Given the description of an element on the screen output the (x, y) to click on. 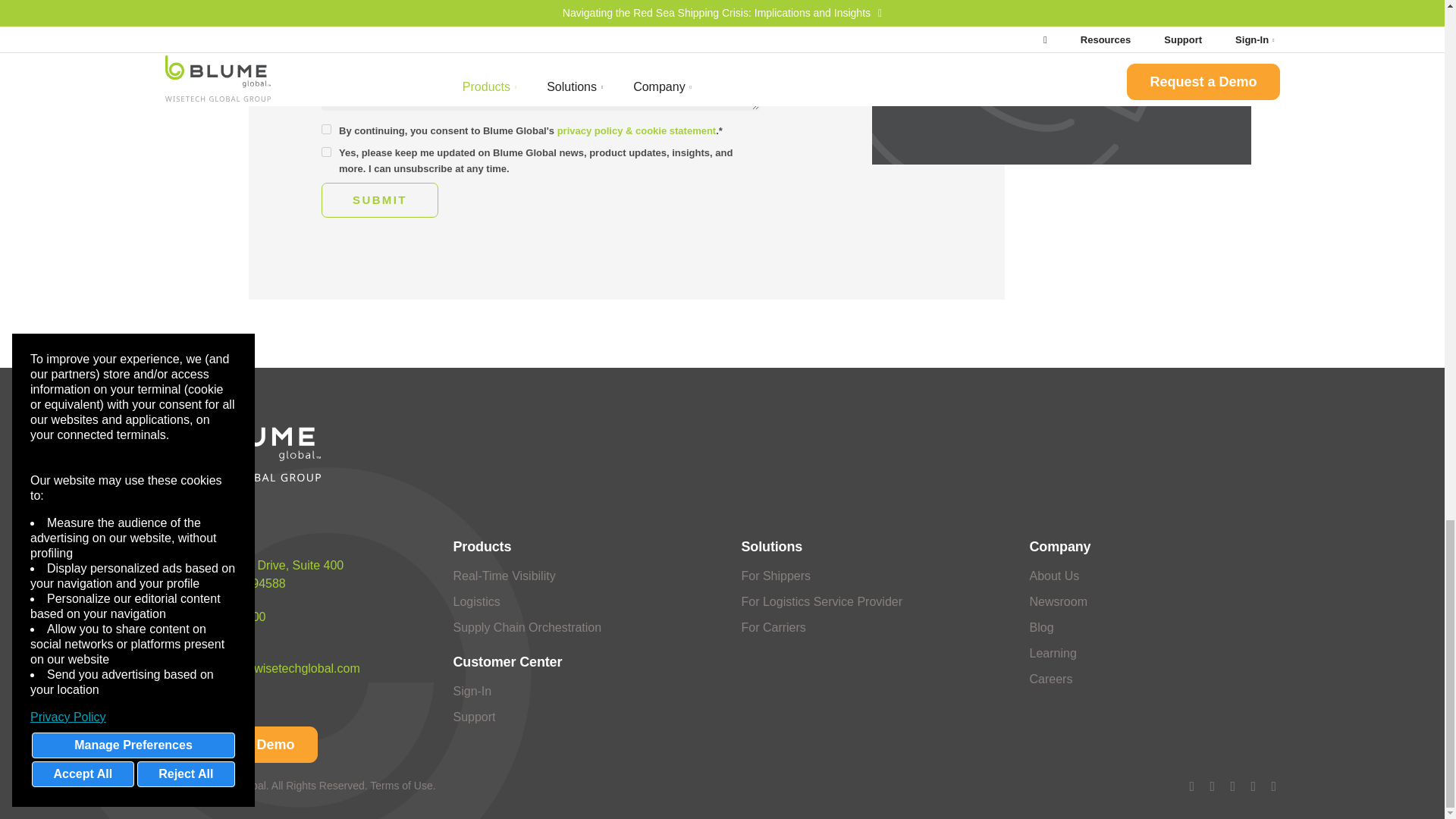
Logistics (476, 601)
Supply Chain Orchestration (527, 626)
Sign-In (472, 690)
Logistics Service Provider (821, 601)
About Us (1054, 575)
Customer Center (507, 661)
Real-Time Visibility (504, 575)
Newsroom (1058, 601)
Shippers (775, 575)
Blog (1041, 626)
Carriers (773, 626)
Careers (1051, 678)
Support (474, 716)
Solutions (994, 20)
Get a demo (241, 744)
